Given the description of an element on the screen output the (x, y) to click on. 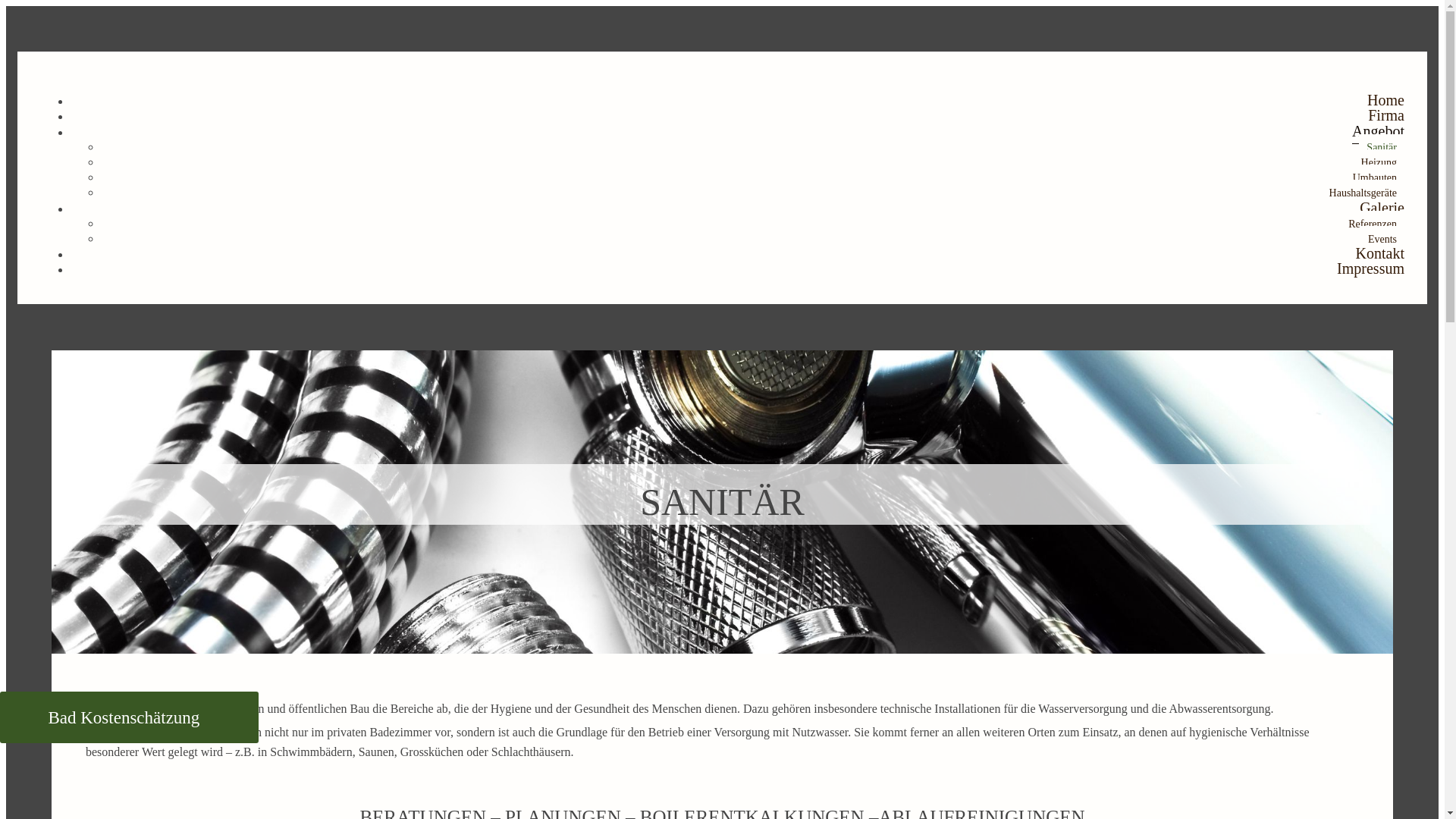
Kontakt Element type: text (1379, 253)
Home Element type: text (1385, 99)
Galerie Element type: text (1381, 207)
Firma Element type: text (1386, 115)
Referenzen Element type: text (1372, 223)
Events Element type: text (1382, 238)
Umbauten Element type: text (1374, 177)
Angebot Element type: text (1378, 131)
Heizung Element type: text (1378, 162)
Impressum Element type: text (1370, 268)
